Given the description of an element on the screen output the (x, y) to click on. 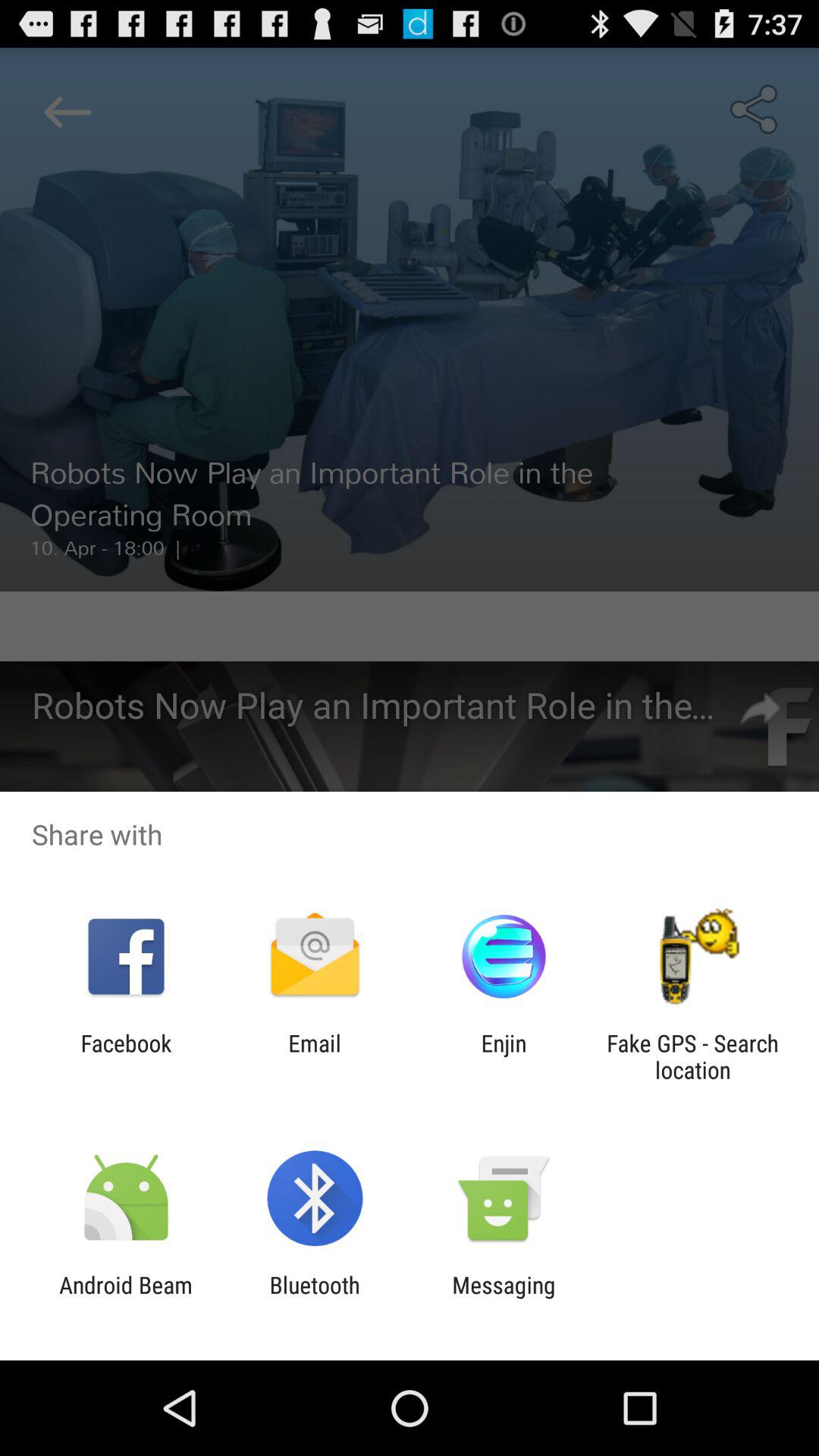
scroll to the enjin icon (503, 1056)
